Given the description of an element on the screen output the (x, y) to click on. 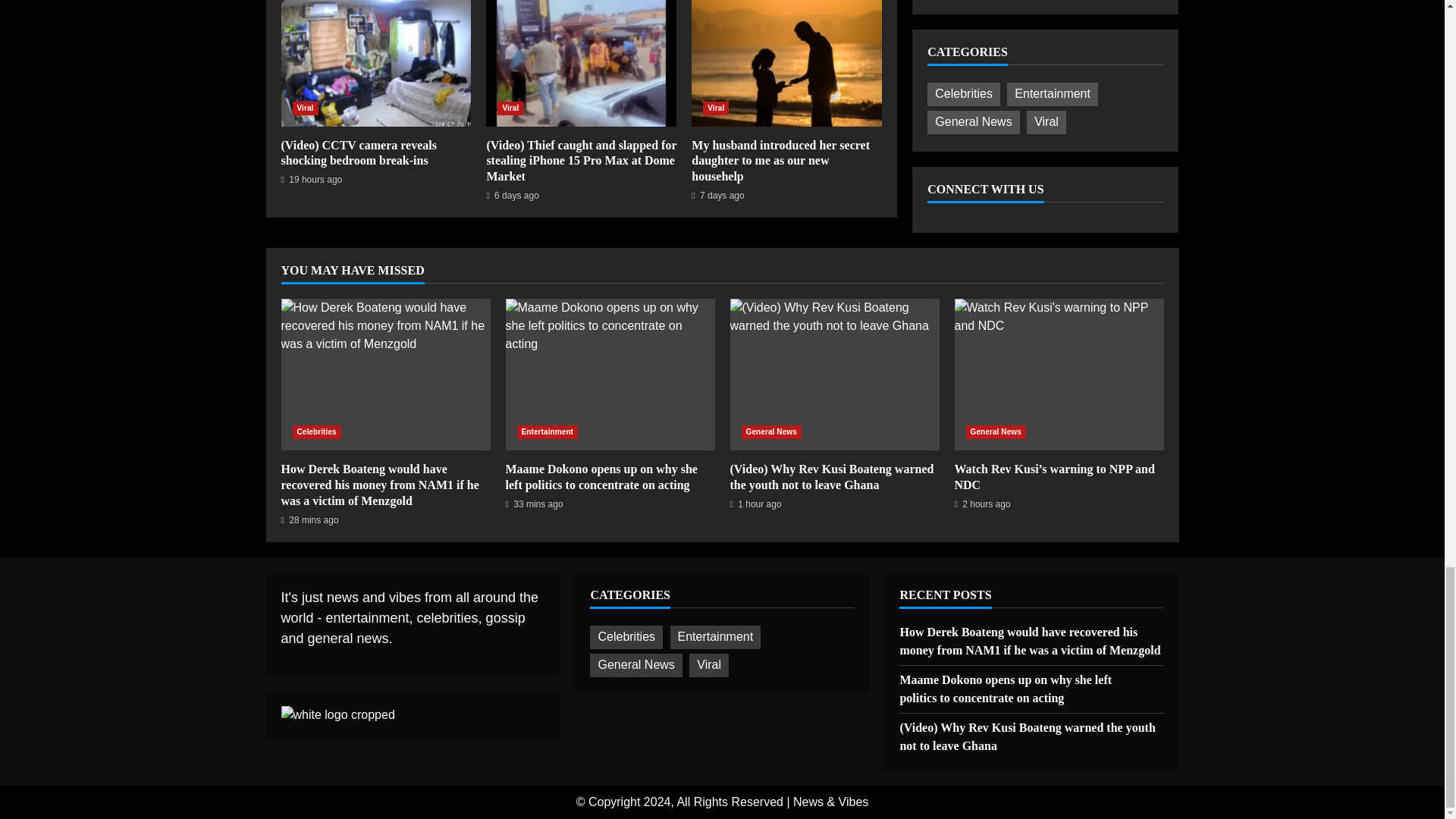
Viral (509, 108)
Viral (716, 108)
Viral (305, 108)
